Given the description of an element on the screen output the (x, y) to click on. 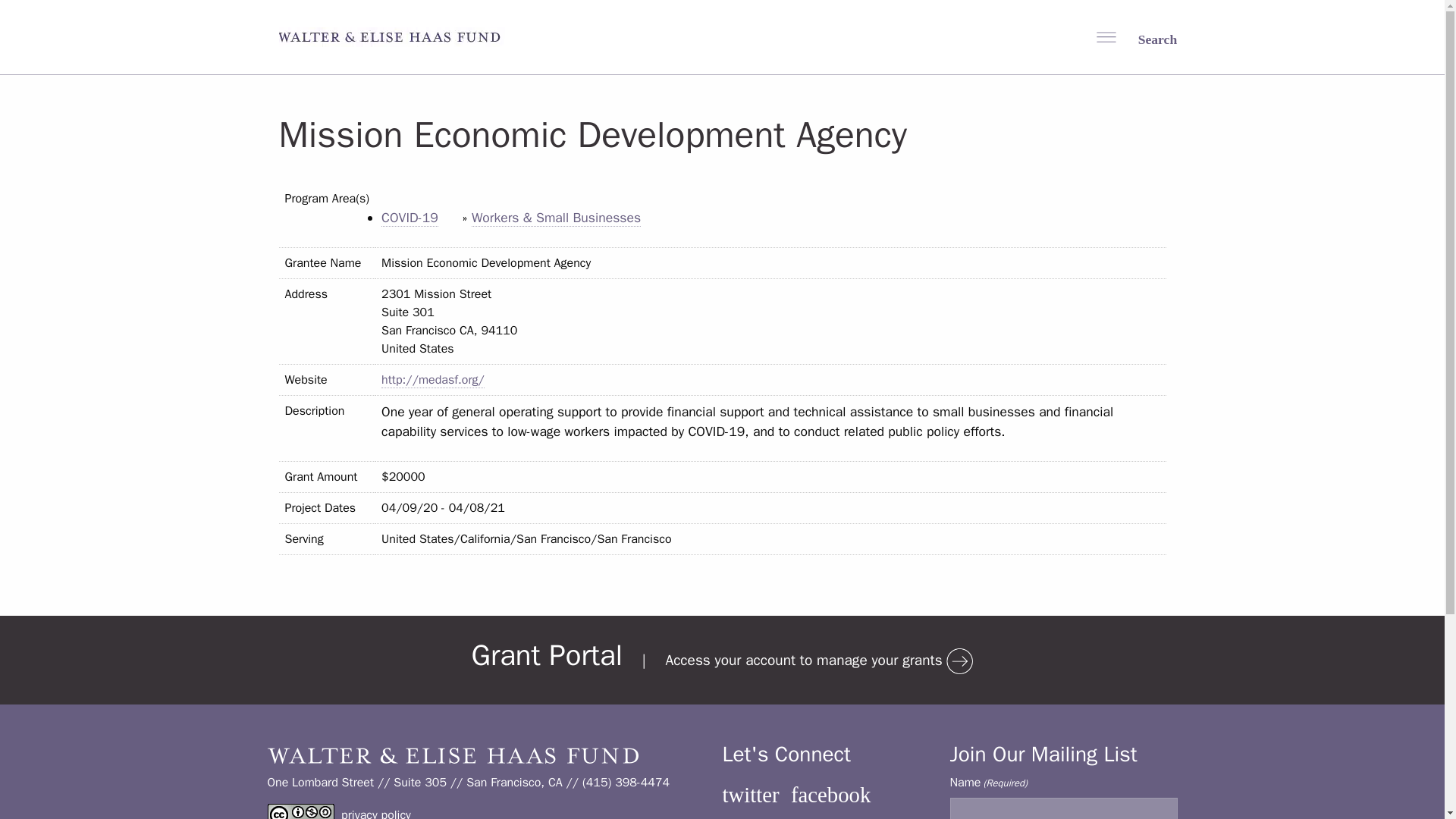
Search (1147, 38)
privacy policy (375, 813)
facebook (830, 794)
COVID-19 (409, 217)
twitter (750, 794)
linkedin (855, 817)
instagram (765, 817)
